Given the description of an element on the screen output the (x, y) to click on. 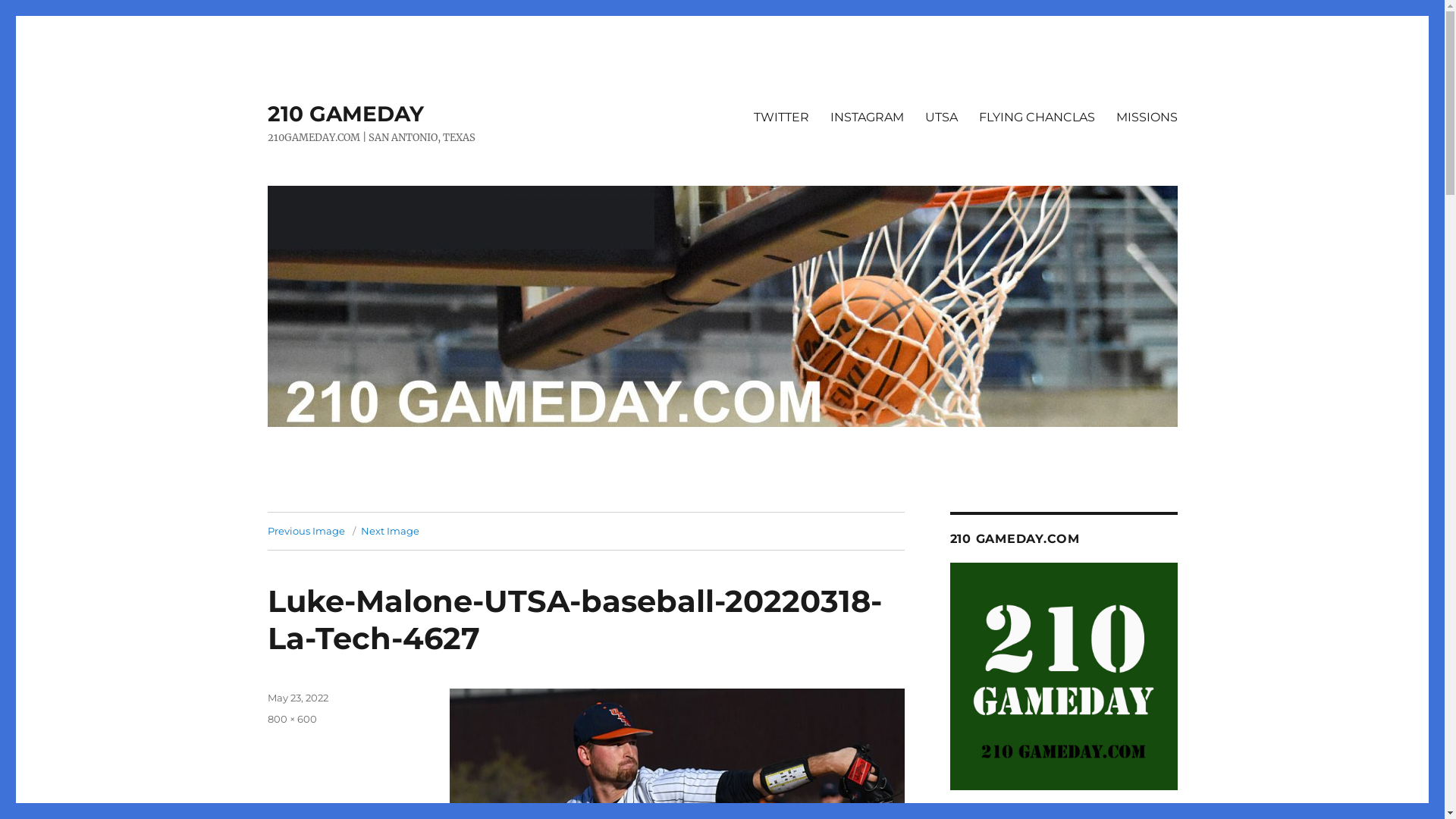
FLYING CHANCLAS Element type: text (1035, 116)
UTSA Element type: text (941, 116)
MISSIONS Element type: text (1146, 116)
TWITTER Element type: text (781, 116)
Next Image Element type: text (389, 530)
210 GAMEDAY Element type: text (344, 113)
May 23, 2022 Element type: text (296, 697)
INSTAGRAM Element type: text (866, 116)
Previous Image Element type: text (305, 530)
